Given the description of an element on the screen output the (x, y) to click on. 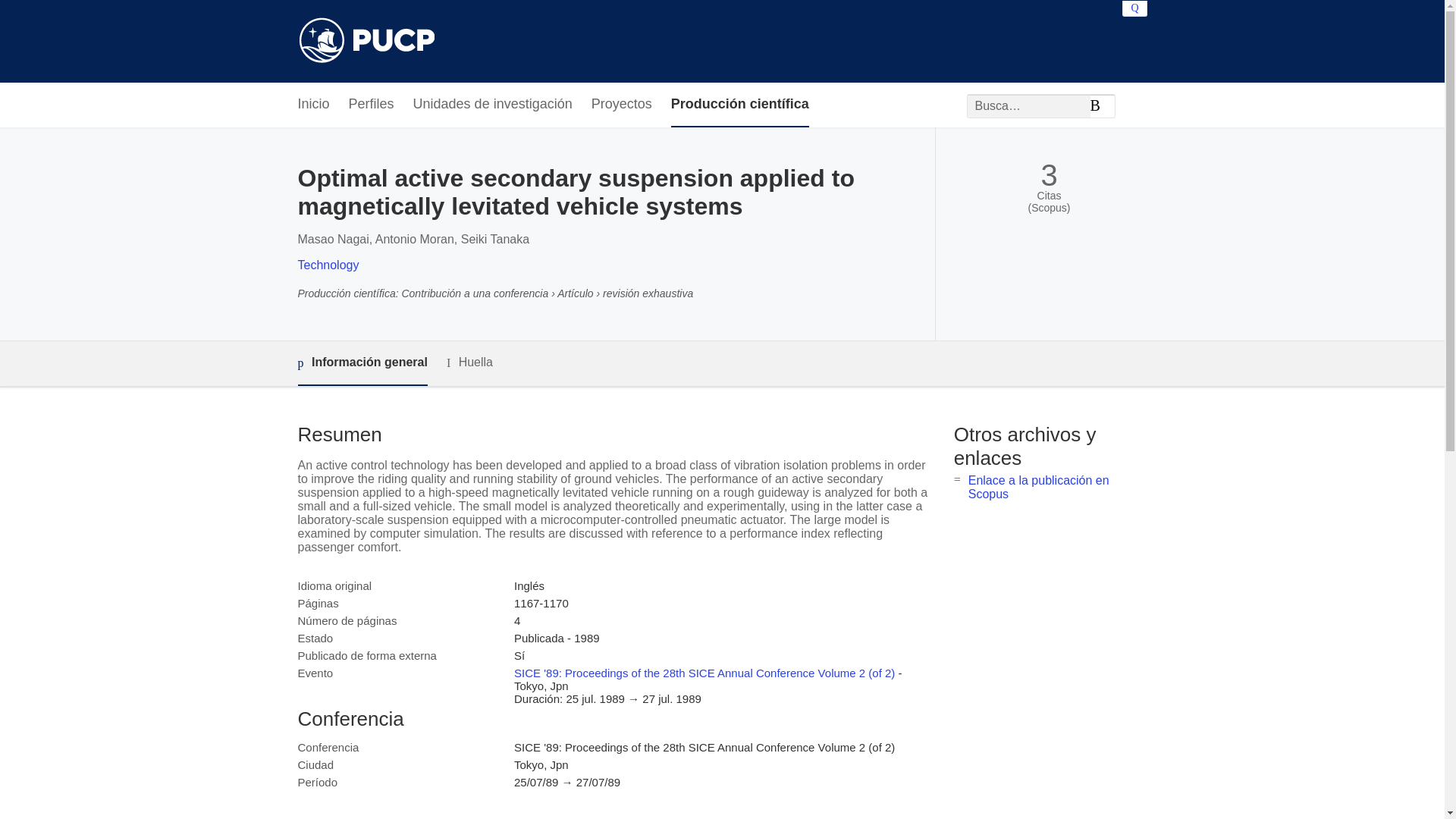
Proyectos (621, 104)
Inicio (313, 104)
Huella (469, 362)
Perfiles (371, 104)
Technology (327, 264)
